Given the description of an element on the screen output the (x, y) to click on. 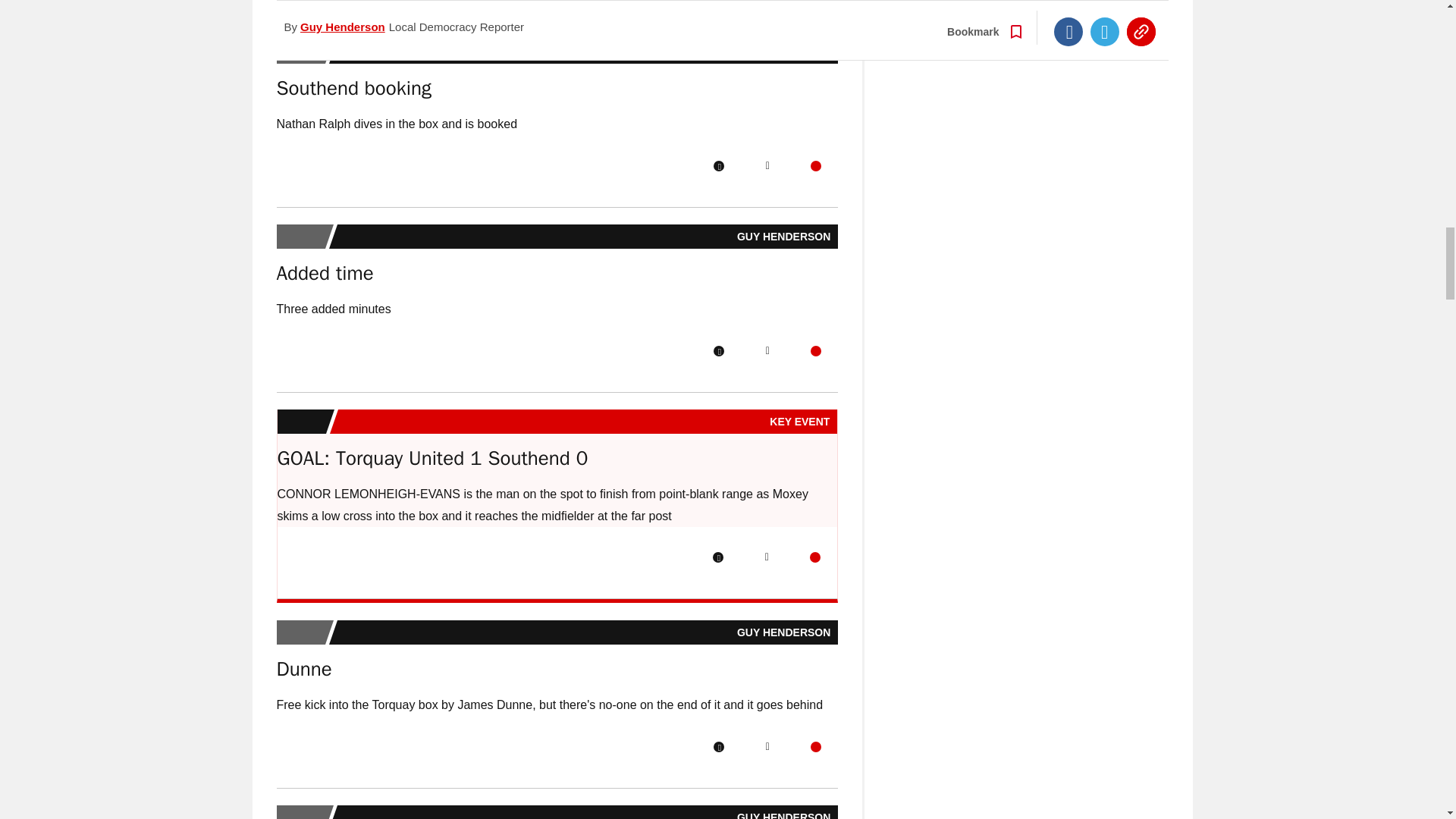
Twitter (767, 165)
Facebook (718, 350)
Facebook (718, 165)
